Given the description of an element on the screen output the (x, y) to click on. 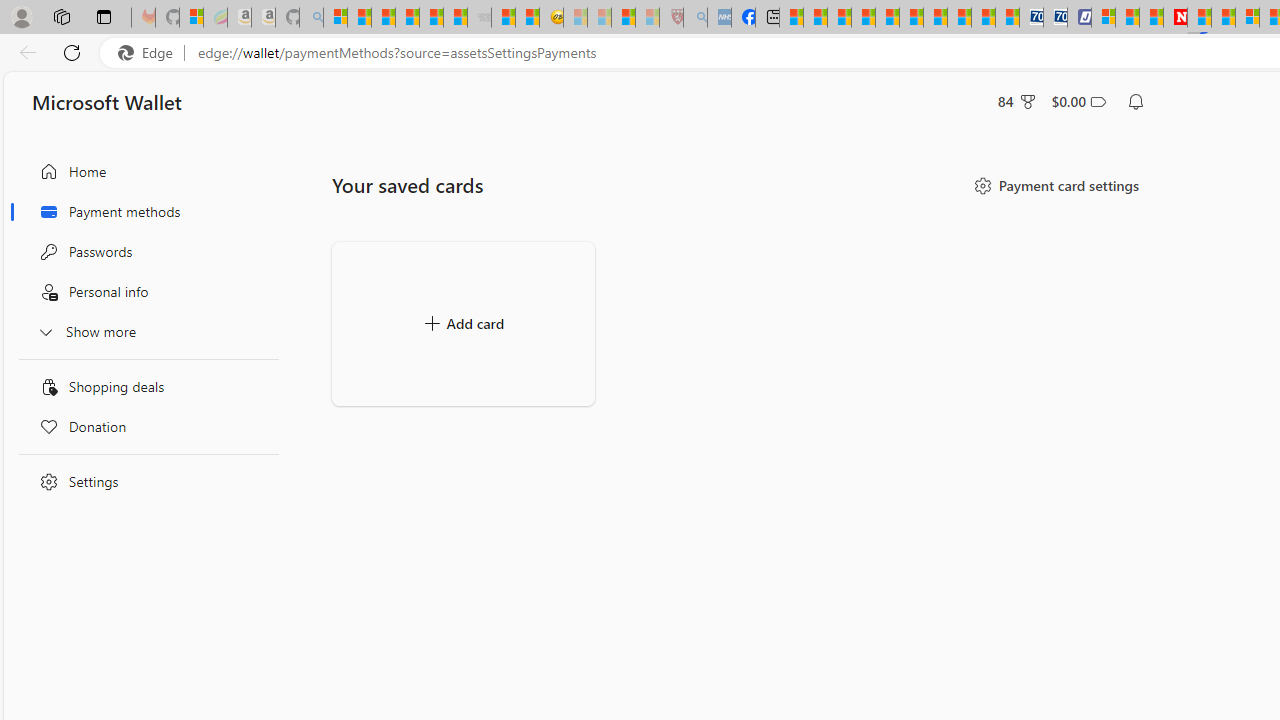
Payment methods (143, 211)
12 Popular Science Lies that Must be Corrected - Sleeping (647, 17)
New Report Confirms 2023 Was Record Hot | Watch (430, 17)
The Weather Channel - MSN (383, 17)
Show more (143, 331)
Climate Damage Becomes Too Severe To Reverse (863, 17)
Personal info (143, 292)
